Given the description of an element on the screen output the (x, y) to click on. 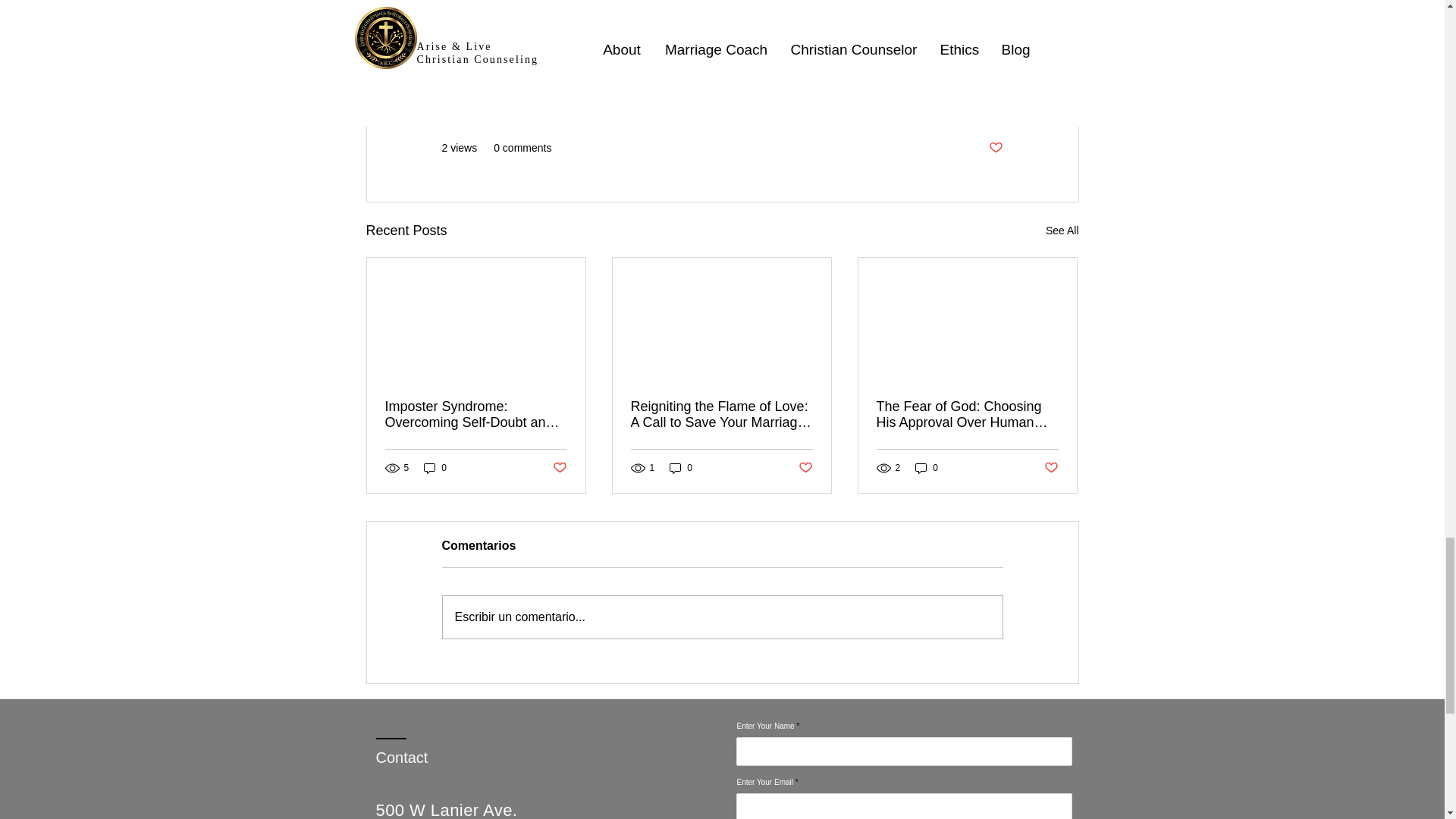
Post not marked as liked (804, 467)
0 (435, 468)
0 (926, 468)
See All (1061, 230)
Post not marked as liked (558, 467)
Escribir un comentario... (722, 617)
0 (681, 468)
Post not marked as liked (1050, 467)
Post not marked as liked (995, 148)
The Fear of God: Choosing His Approval Over Human Opinion (967, 414)
